Given the description of an element on the screen output the (x, y) to click on. 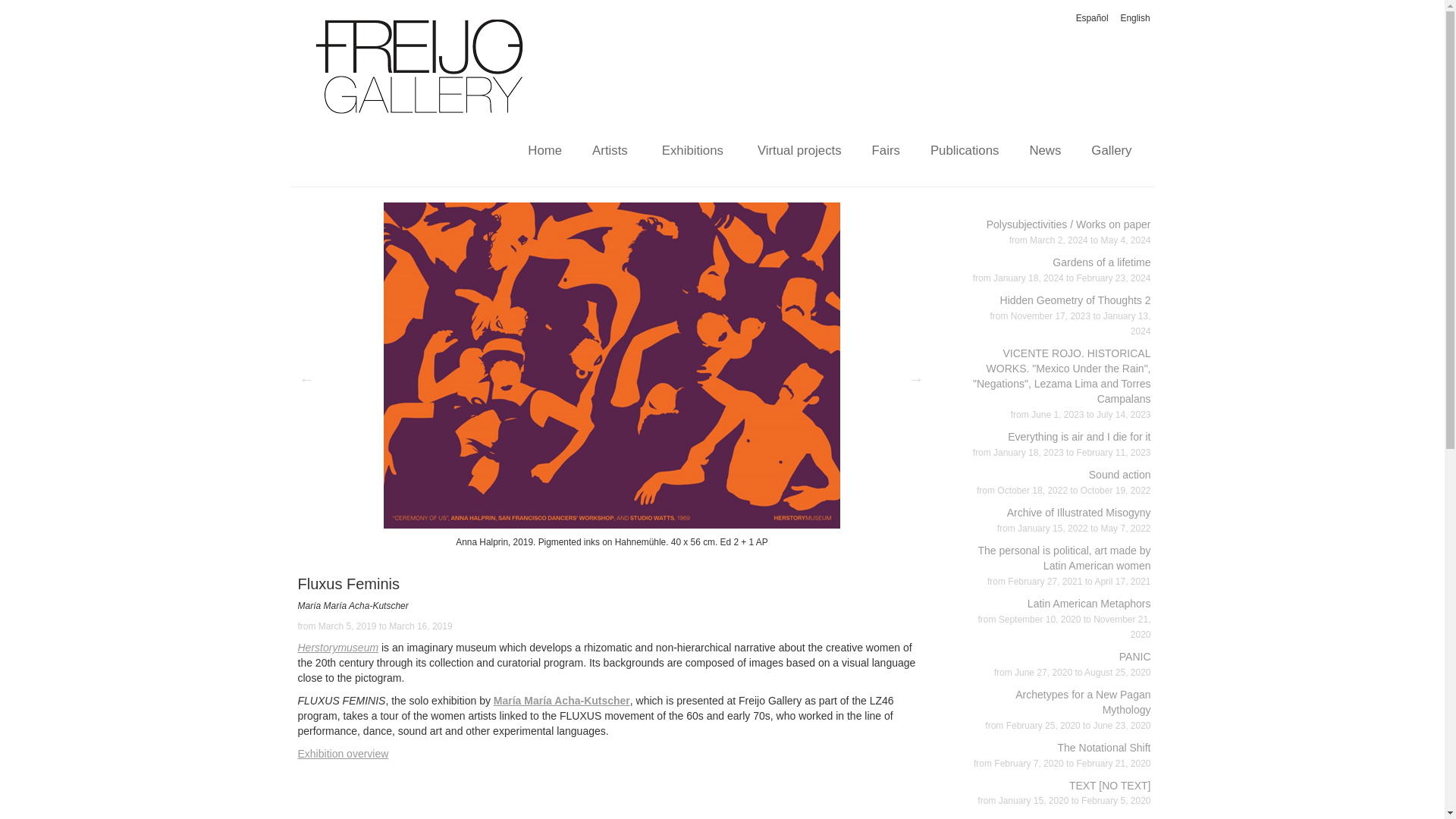
Previous (306, 378)
Virtual projects (799, 150)
Herstorymuseum (1072, 664)
Publications (337, 647)
